Given the description of an element on the screen output the (x, y) to click on. 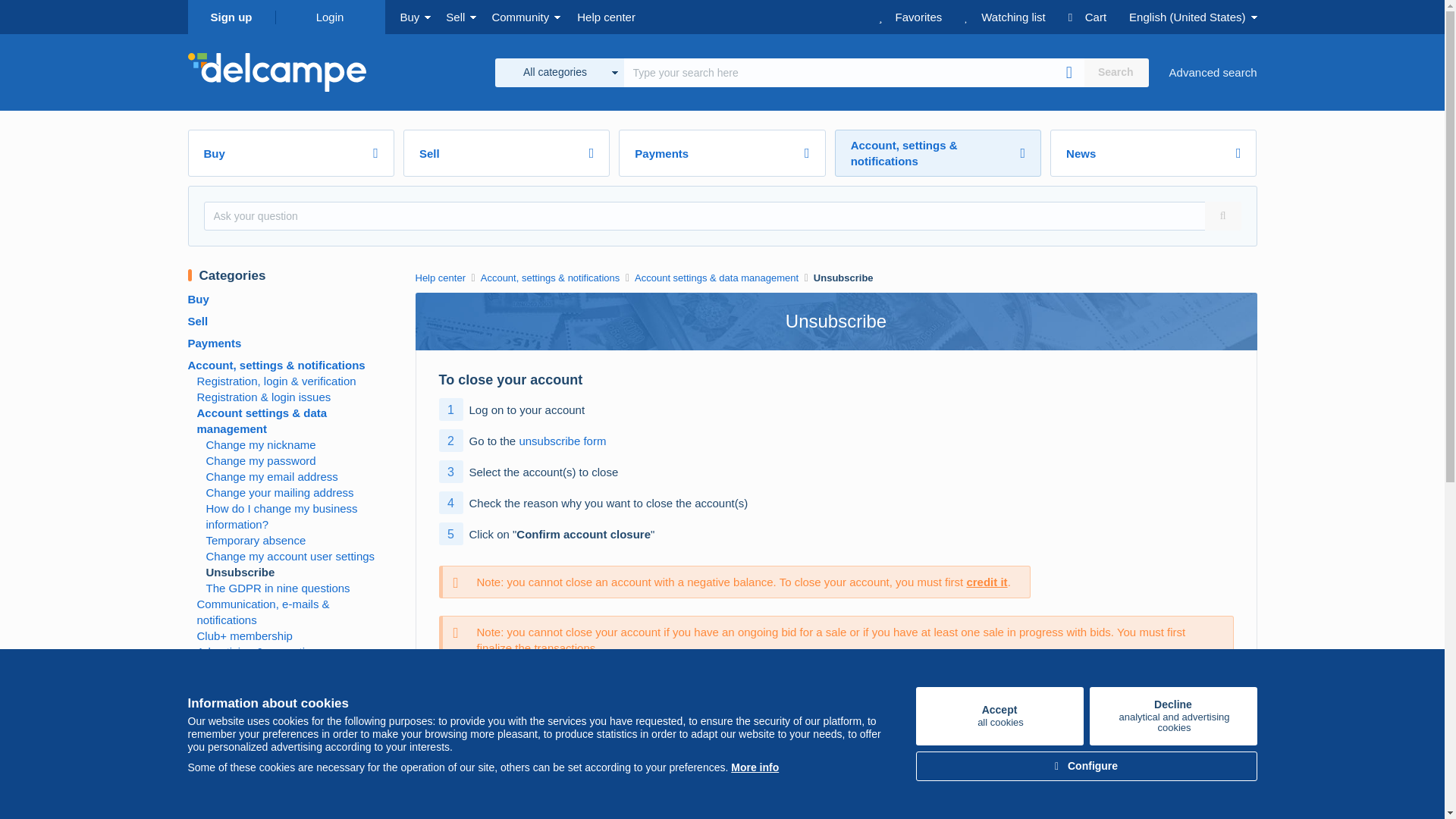
Watching list (1015, 17)
Advanced search (1069, 72)
Search (999, 716)
Sign up (1115, 71)
More info (231, 17)
Login (754, 767)
Help center (1172, 716)
Buy (329, 17)
My shopping cart (609, 17)
My favorites (407, 17)
Configure (1098, 17)
